Given the description of an element on the screen output the (x, y) to click on. 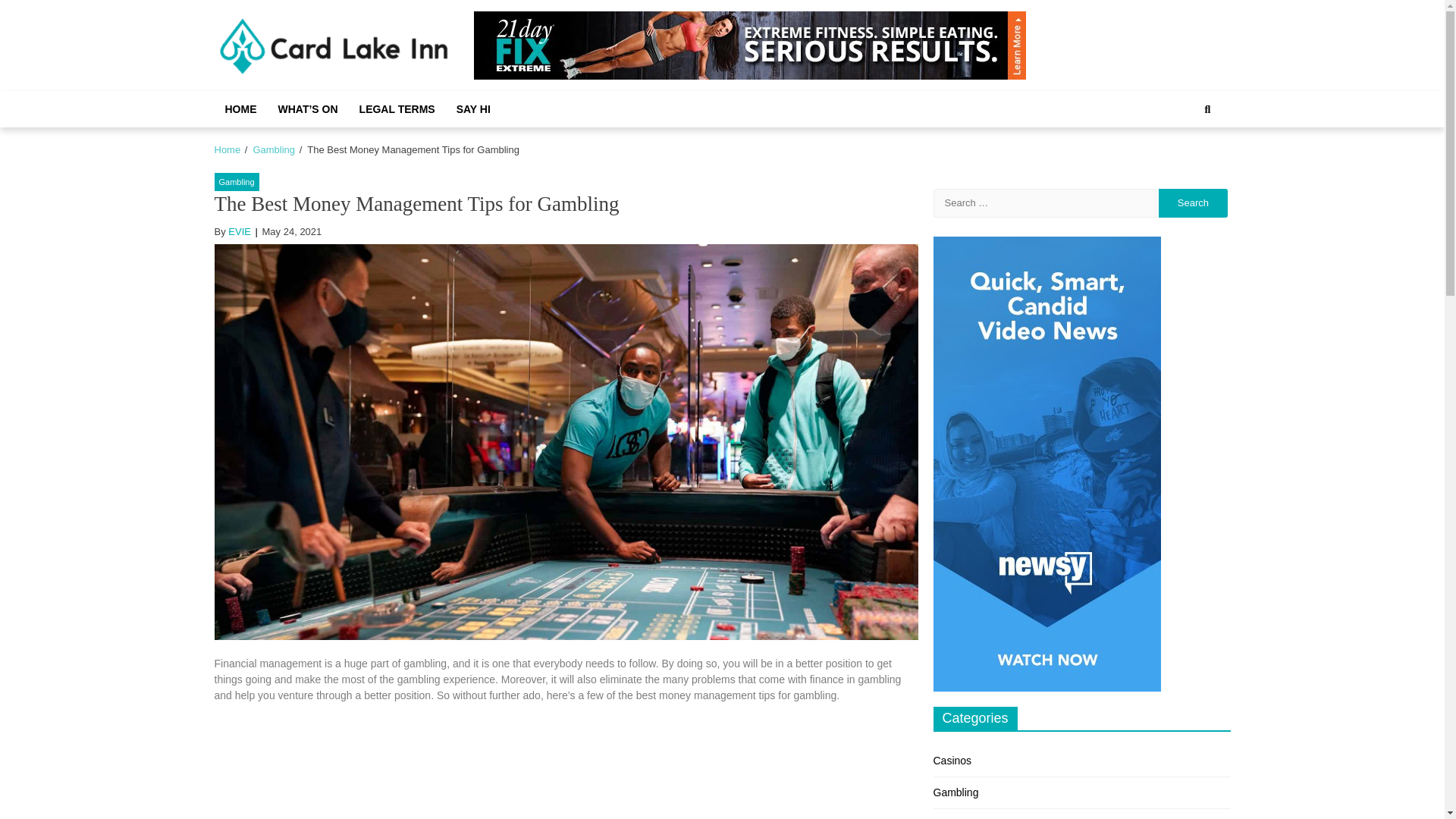
YouTube video player (565, 765)
SAY HI (472, 108)
Gambling (236, 181)
Search (1192, 203)
Gambling (273, 149)
Card Lake Inn (315, 93)
HOME (240, 108)
Search (1192, 203)
EVIE (239, 231)
Gambling (955, 792)
